Given the description of an element on the screen output the (x, y) to click on. 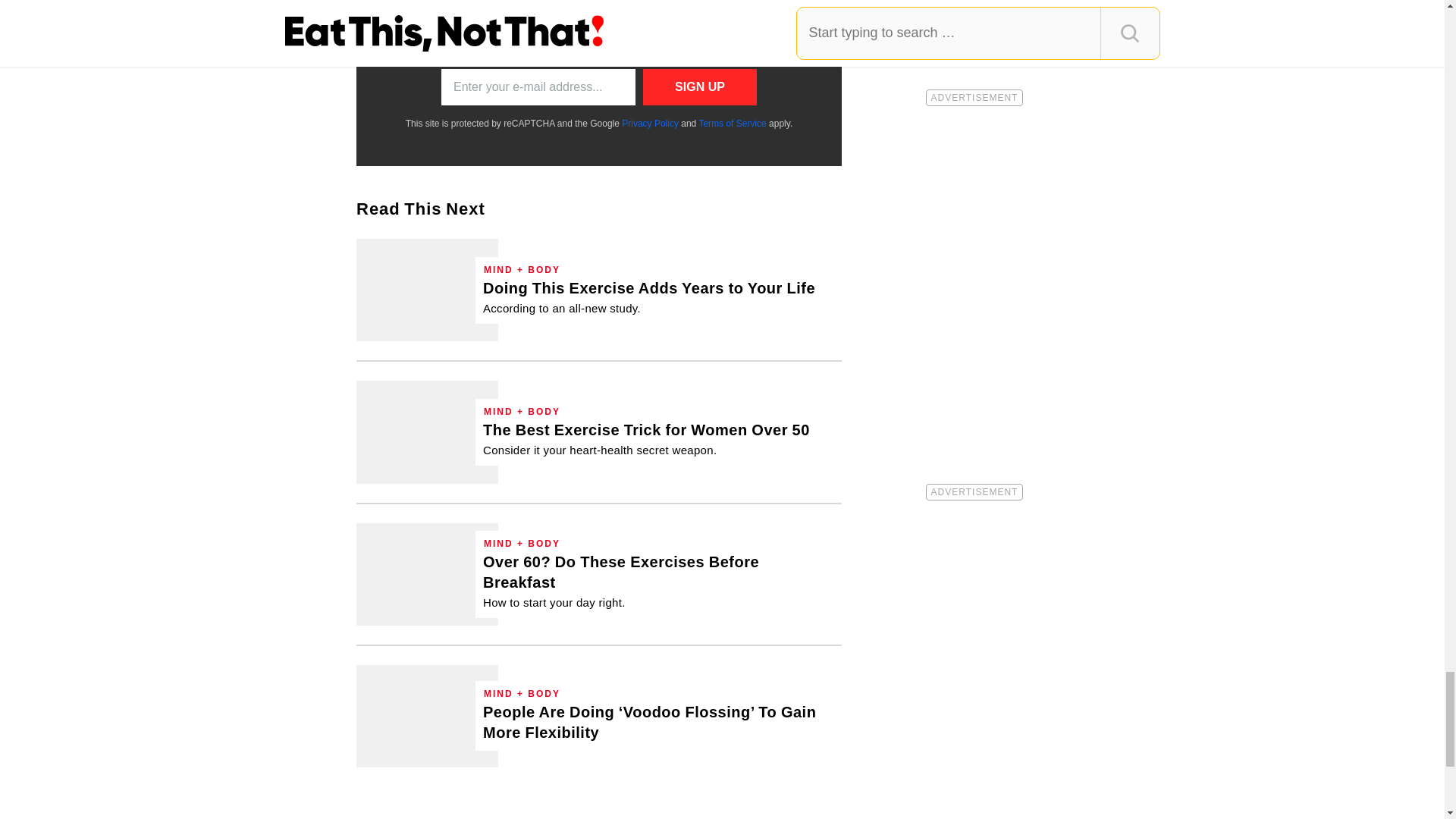
One Secret Exercise Trick That Women Over 50 Should Try Now (646, 438)
Over 60? Do These Exercises Before Breakfast, Say Experts (426, 574)
One Secret Exercise Trick That Women Over 50 Should Try Now (426, 431)
Over 60? Do These Exercises Before Breakfast, Say Experts (658, 581)
